Given the description of an element on the screen output the (x, y) to click on. 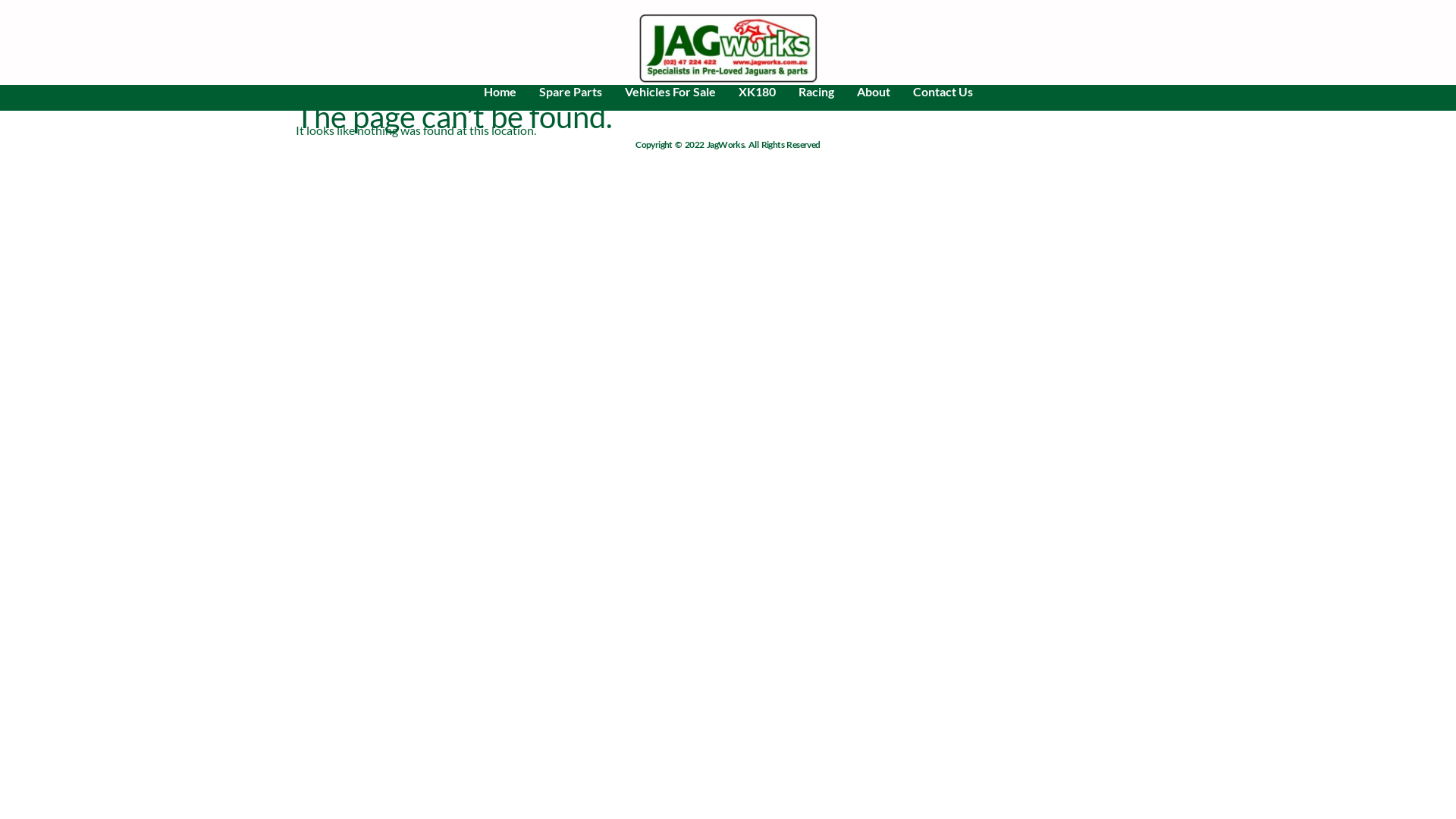
XK180 Element type: text (756, 90)
About Element type: text (872, 90)
Contact Us Element type: text (941, 90)
Home Element type: text (499, 90)
Spare Parts Element type: text (570, 90)
Racing Element type: text (816, 90)
Vehicles For Sale Element type: text (669, 90)
